Given the description of an element on the screen output the (x, y) to click on. 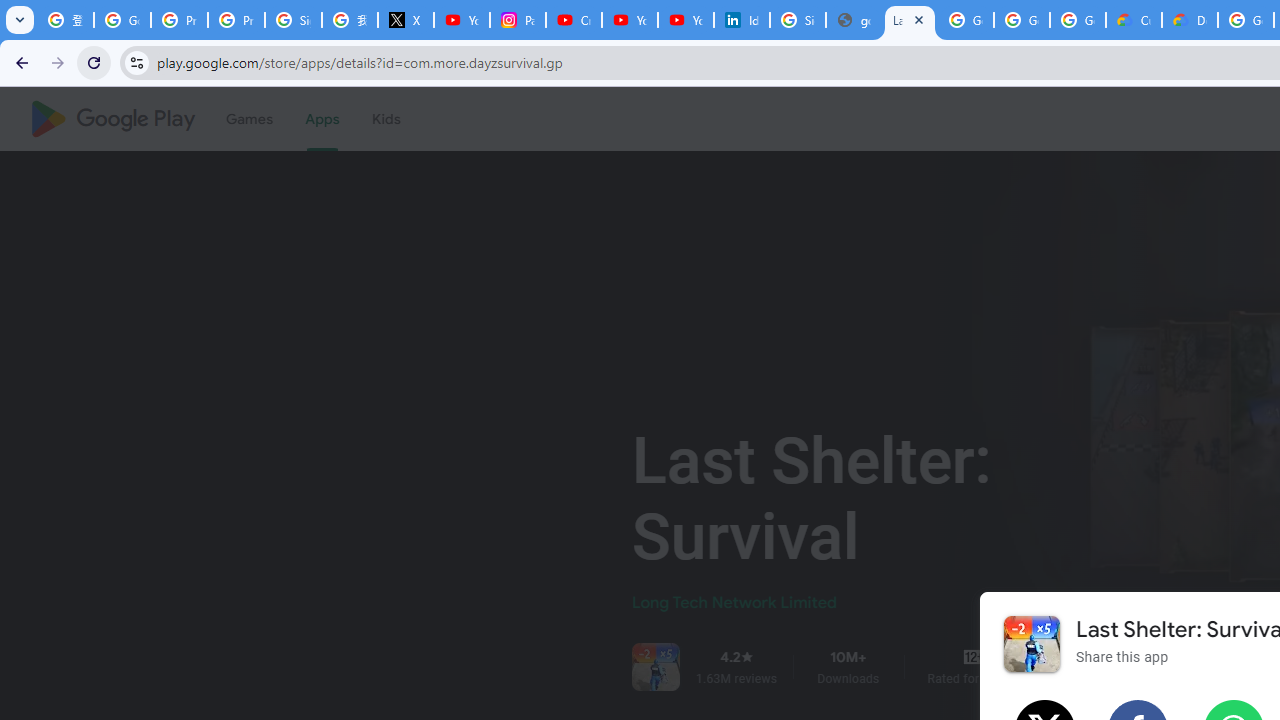
google_privacy_policy_en.pdf (853, 20)
Last Shelter: Survival - Apps on Google Play (909, 20)
YouTube Content Monetization Policies - How YouTube Works (461, 20)
YouTube Culture & Trends - YouTube Top 10, 2021 (685, 20)
Customer Care | Google Cloud (1133, 20)
Identity verification via Persona | LinkedIn Help (742, 20)
Privacy Help Center - Policies Help (235, 20)
